Given the description of an element on the screen output the (x, y) to click on. 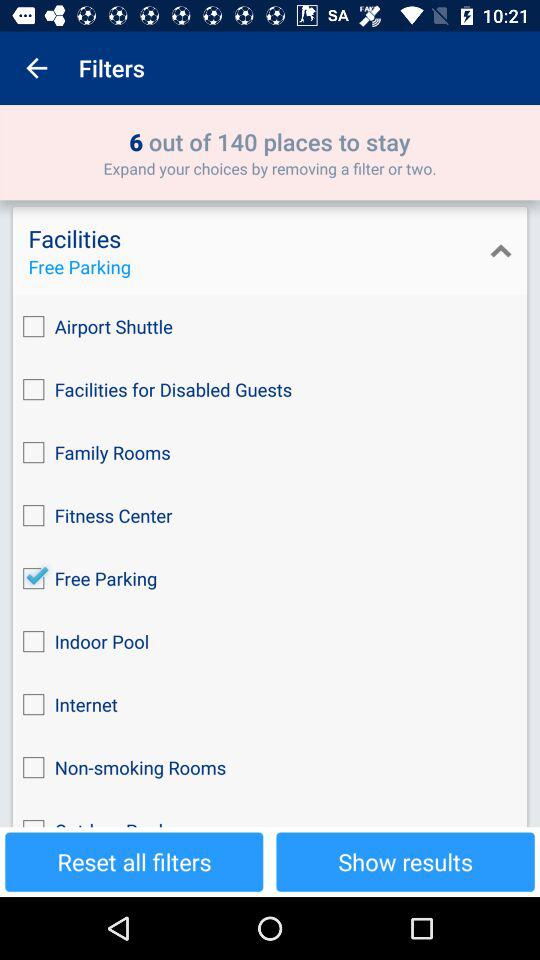
click icon above internet checkbox (269, 641)
